Given the description of an element on the screen output the (x, y) to click on. 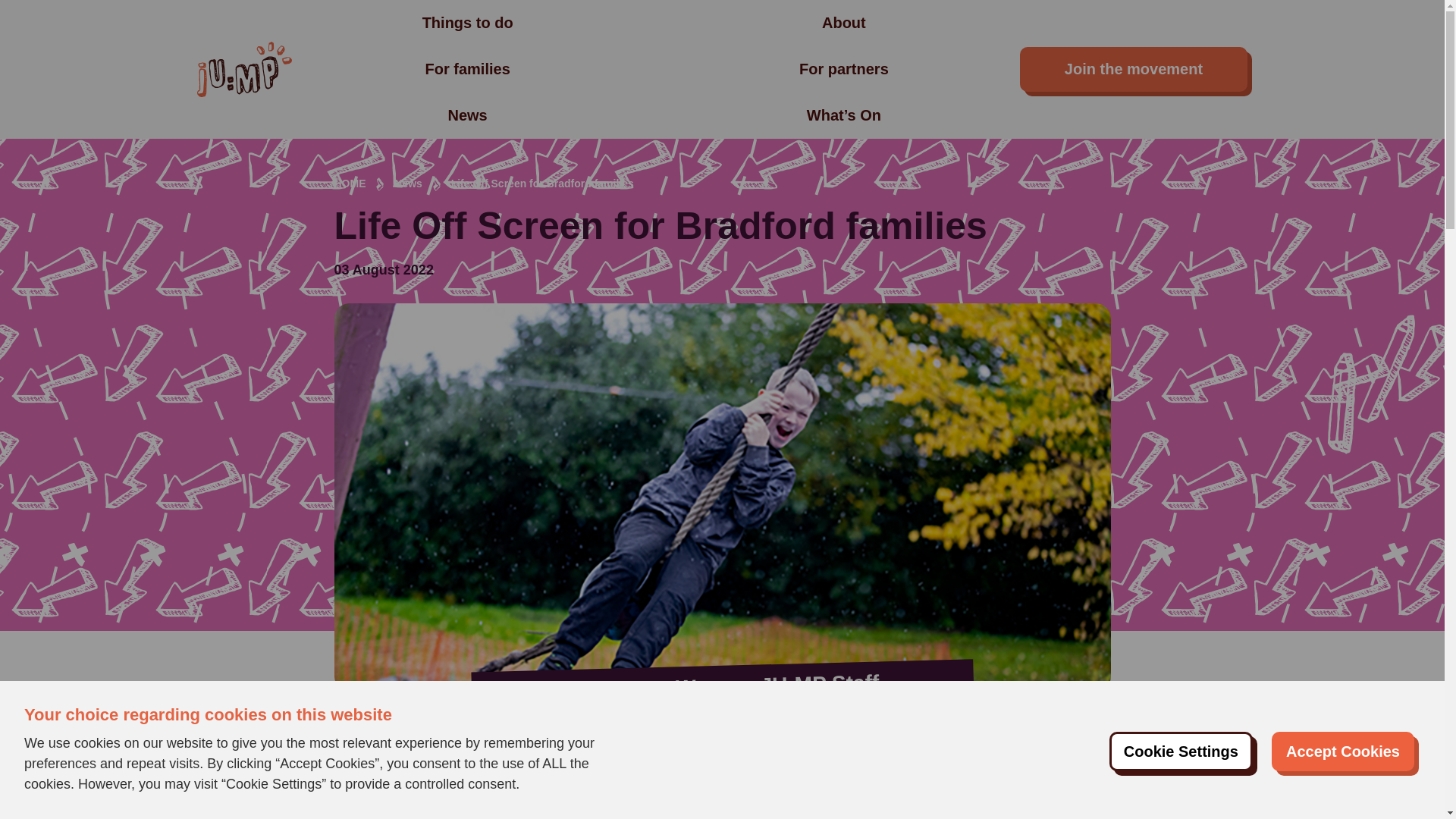
Things to do (467, 23)
News (408, 183)
About (844, 23)
HOME (349, 183)
Join the movement (1133, 68)
Screen Off Life On (715, 808)
For families (467, 69)
News (466, 116)
For partners (843, 69)
